Given the description of an element on the screen output the (x, y) to click on. 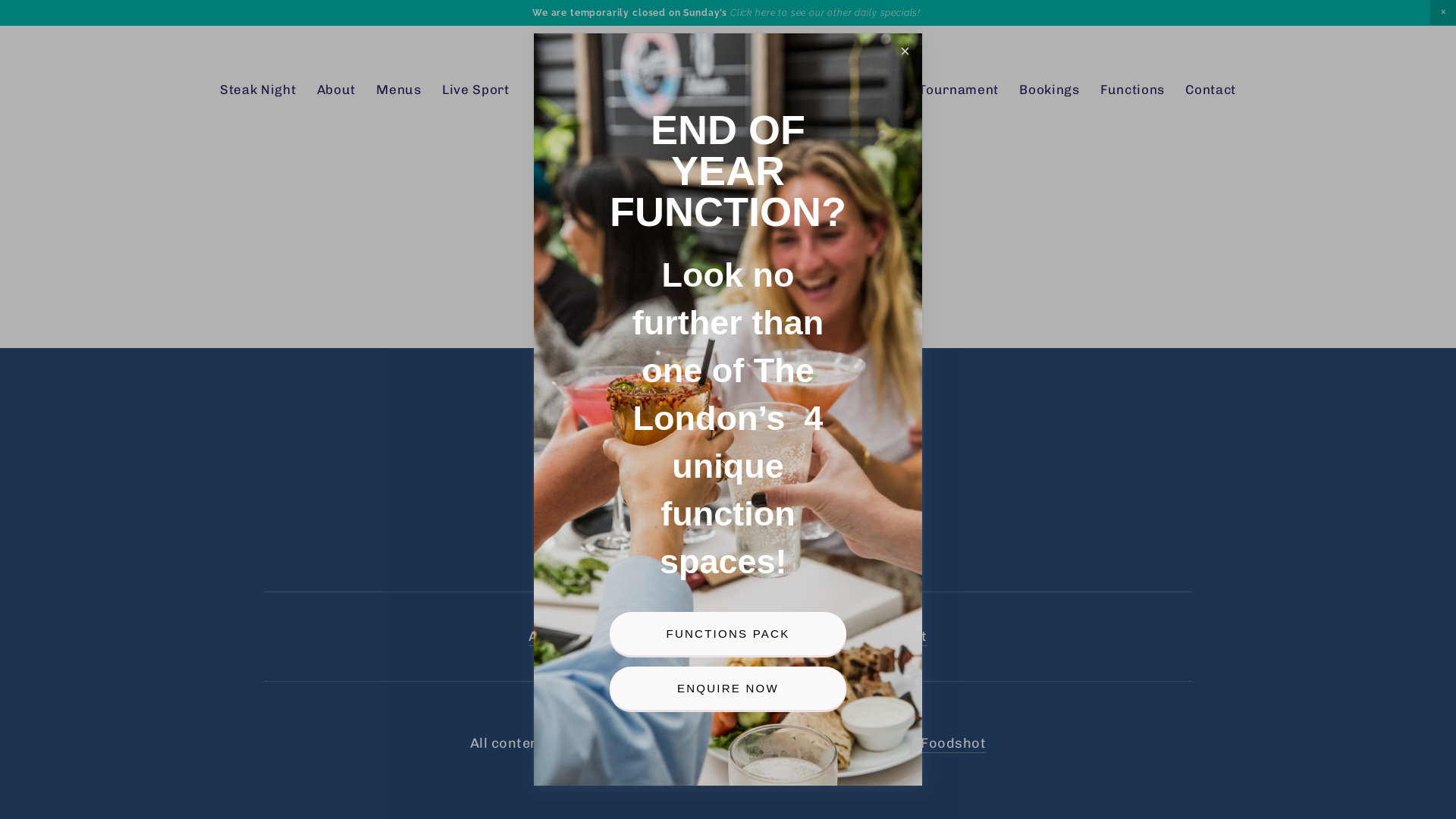
Bookings Element type: text (1049, 89)
Foodshot Element type: text (952, 743)
Functions Element type: text (827, 636)
Contact Element type: text (1210, 89)
About Element type: text (335, 89)
ENQUIRE NOW Element type: text (727, 687)
Darts Tournament Element type: text (938, 89)
Live Sport Element type: text (475, 89)
Steak Night Element type: text (257, 89)
Functions Element type: text (1132, 89)
What's On Element type: text (824, 89)
Bookings Element type: text (750, 636)
FUNCTIONS PACK Element type: text (727, 633)
Menus Element type: text (603, 636)
About Element type: text (549, 636)
Menus Element type: text (398, 89)
Contact Element type: text (899, 636)
Live Sport Element type: text (672, 636)
